Given the description of an element on the screen output the (x, y) to click on. 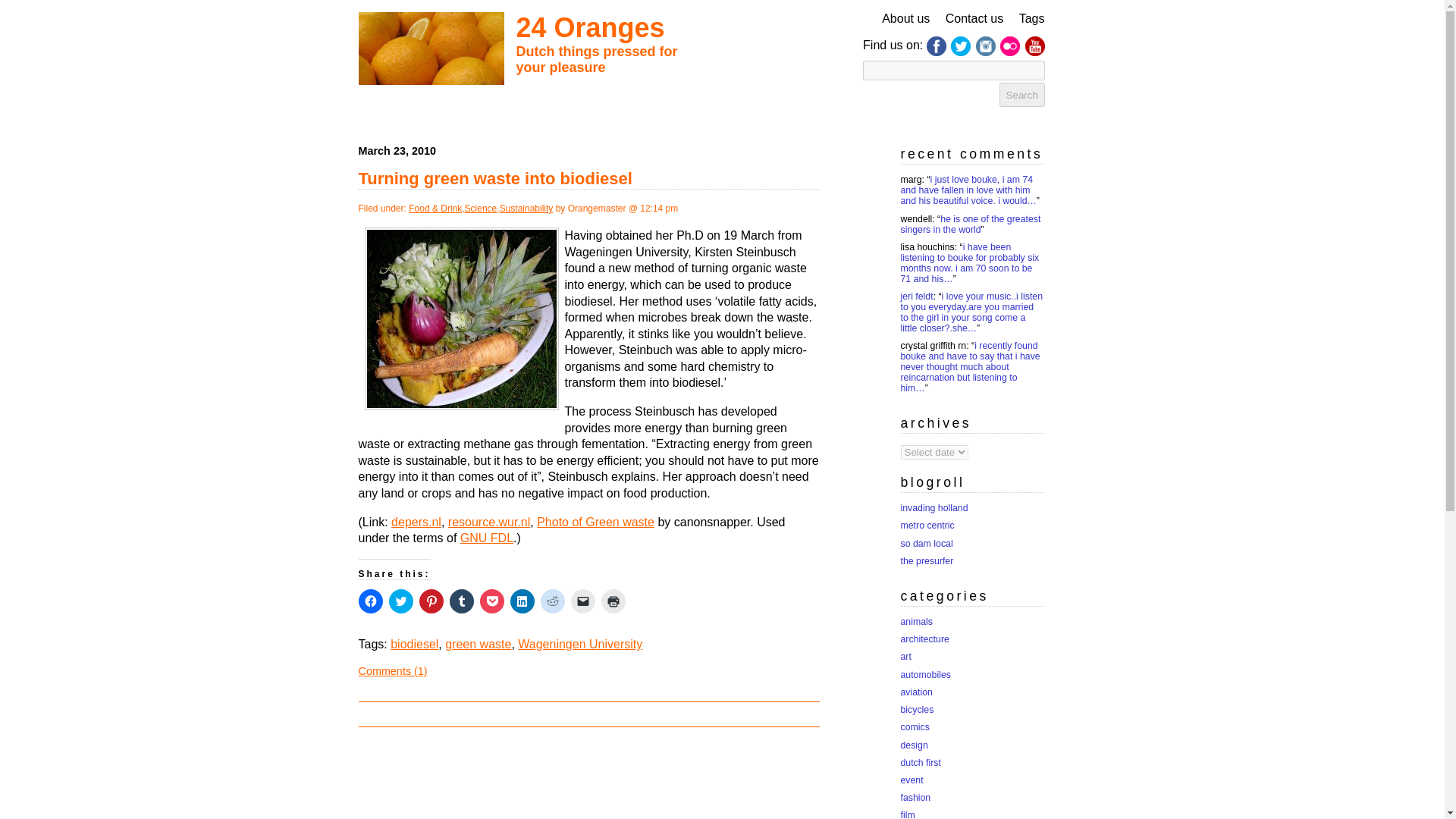
Contact us (973, 18)
GNU FDL (486, 537)
biodiesel (414, 644)
Tags (1032, 18)
he is one of the greatest singers in the world (971, 224)
Photo of Green waste (595, 521)
Wageningen University (580, 644)
Search (1021, 94)
Search (1021, 94)
jeri feldt (917, 296)
Sustainability (526, 208)
depers.nl (416, 521)
green waste (478, 644)
Science (480, 208)
About us (906, 18)
